Given the description of an element on the screen output the (x, y) to click on. 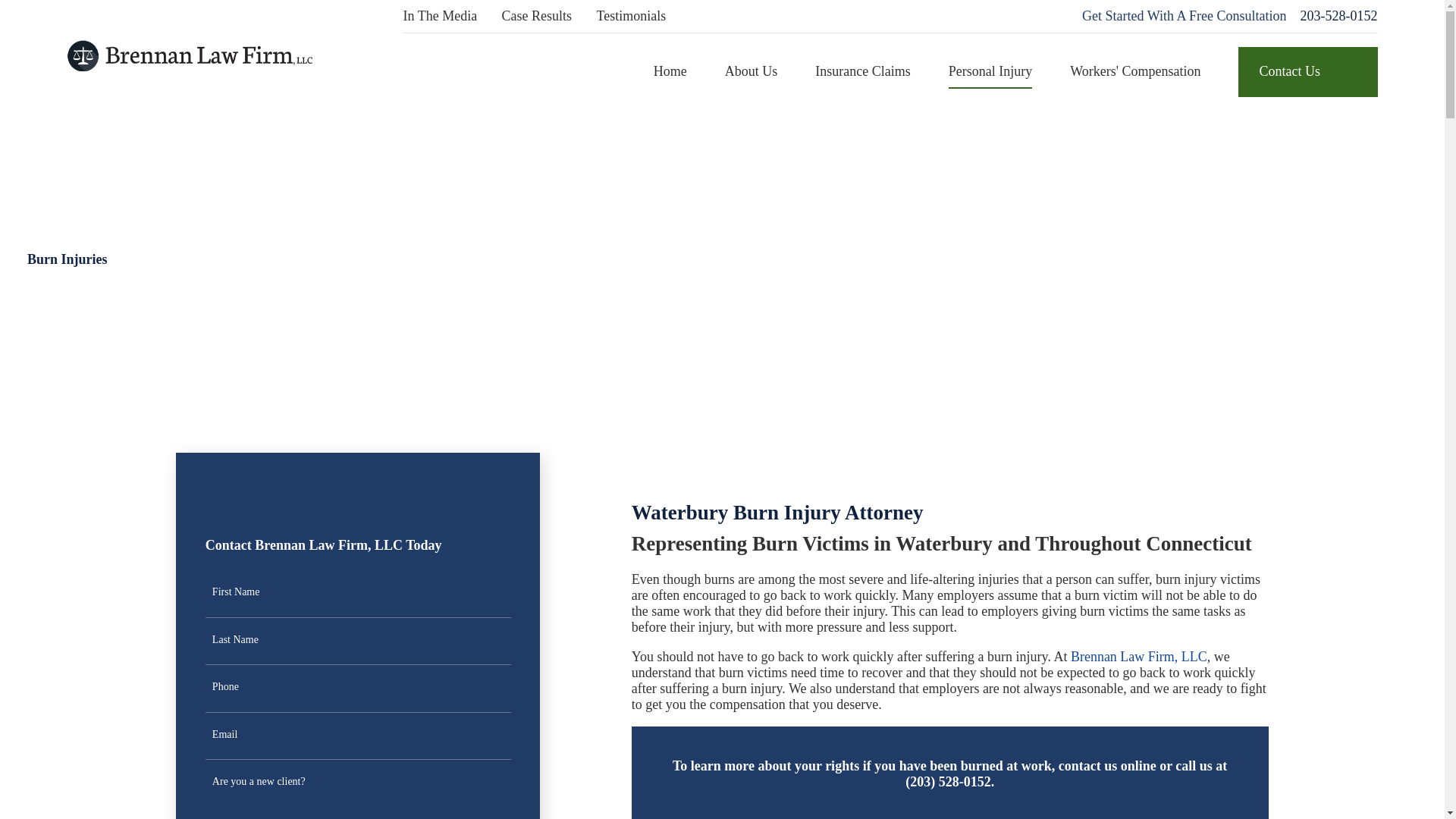
Insurance Claims (862, 71)
About Us (751, 71)
Home (188, 55)
Brennan Law Firm, LLC (188, 55)
Home (670, 71)
Case Results (537, 15)
203-528-0152 (1338, 16)
In The Media (440, 15)
Testimonials (630, 15)
Personal Injury (990, 71)
